Given the description of an element on the screen output the (x, y) to click on. 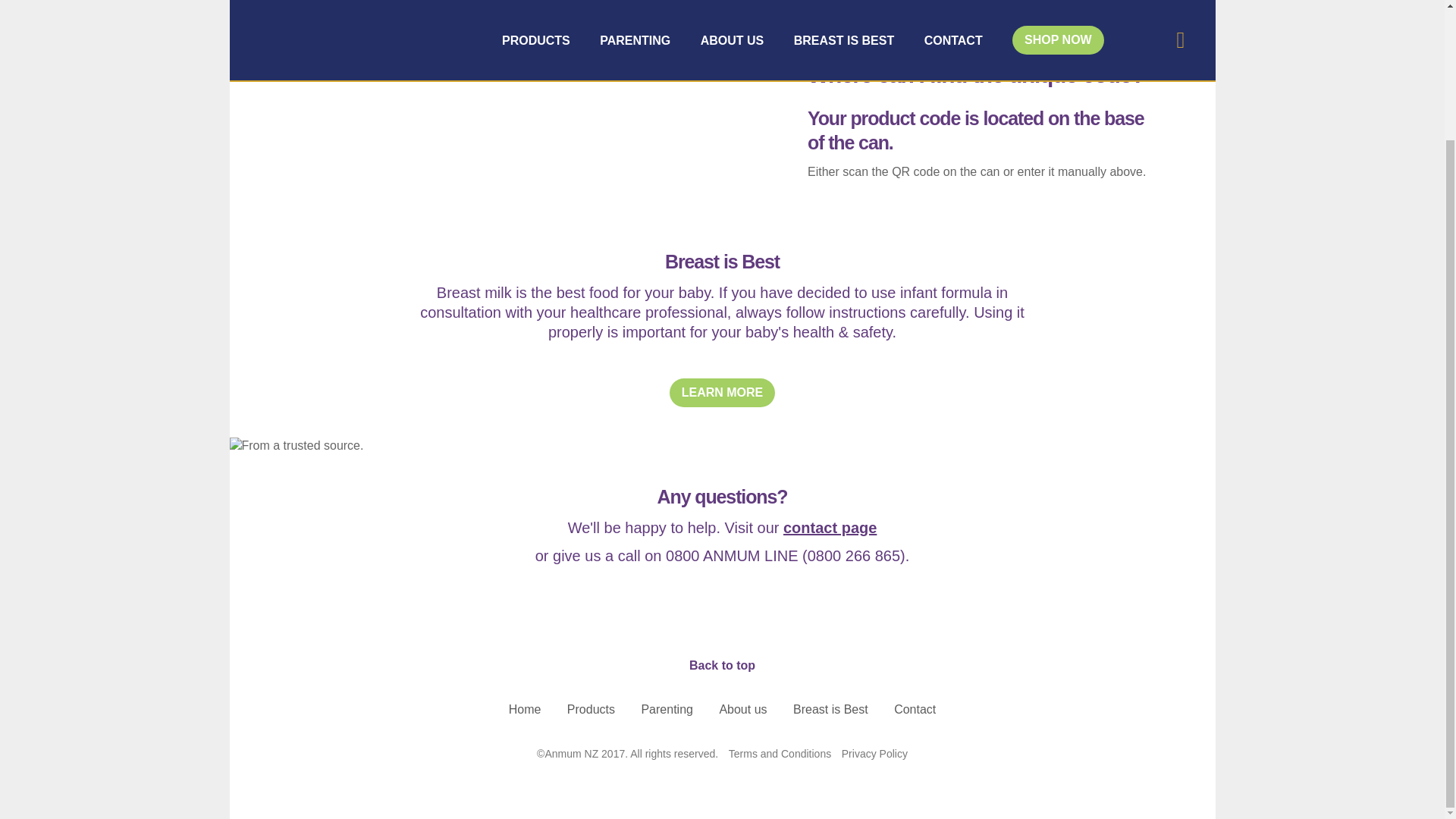
contact page (829, 527)
Breast is Best (830, 709)
Products (590, 709)
About us (743, 709)
LEARN MORE (722, 392)
Back to top (722, 646)
Home (524, 709)
Privacy Policy (874, 754)
About us (743, 709)
Contact (914, 709)
